Given the description of an element on the screen output the (x, y) to click on. 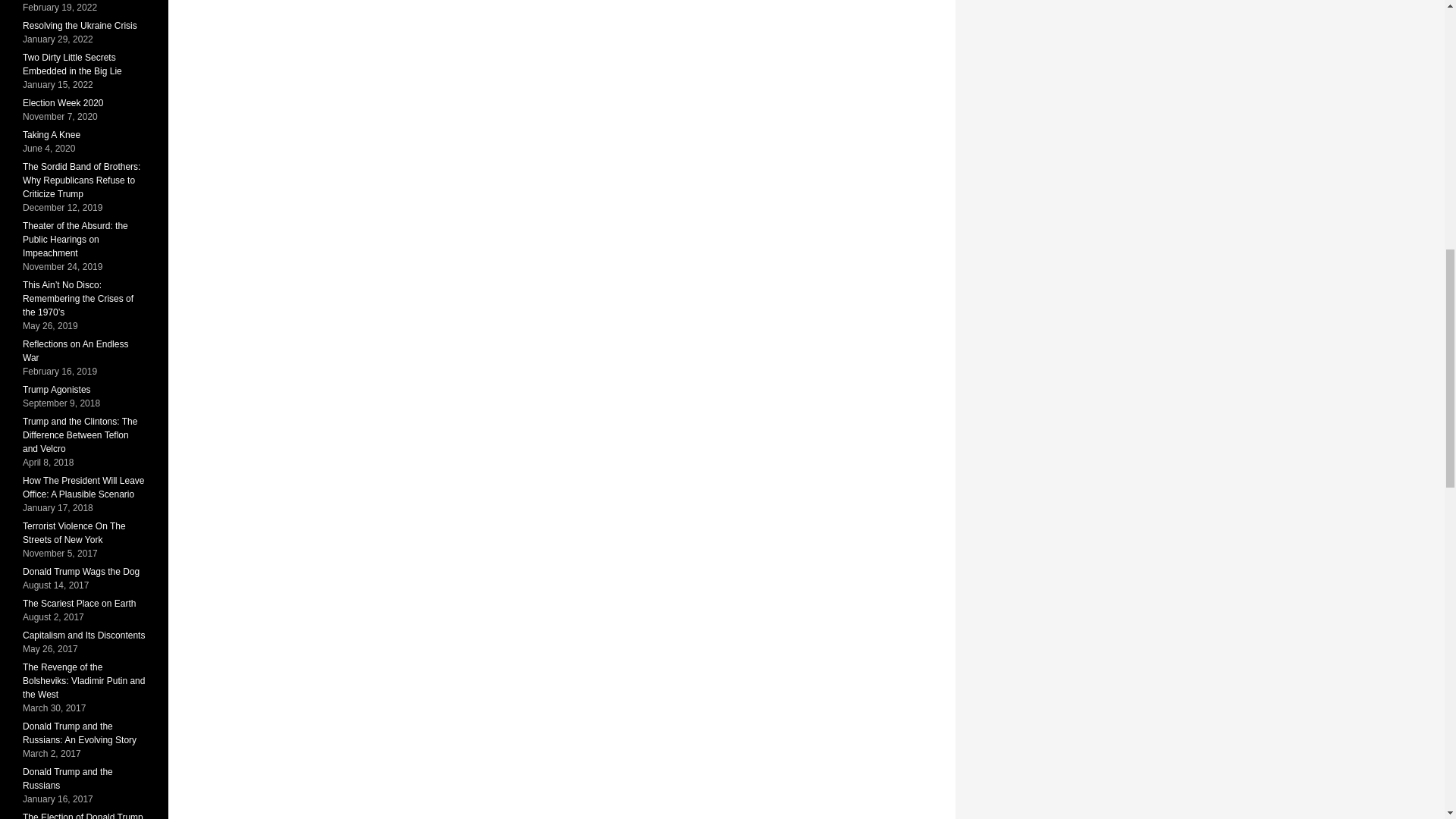
Donald Trump Wags the Dog (81, 571)
Election Week 2020 (63, 102)
Resolving the Ukraine Crisis (79, 25)
Reflections on An Endless War (75, 351)
How The President Will Leave Office: A Plausible Scenario (83, 487)
Two Dirty Little Secrets Embedded in the Big Lie (72, 64)
Terrorist Violence On The Streets of New York (74, 532)
Trump Agonistes (56, 389)
